Given the description of an element on the screen output the (x, y) to click on. 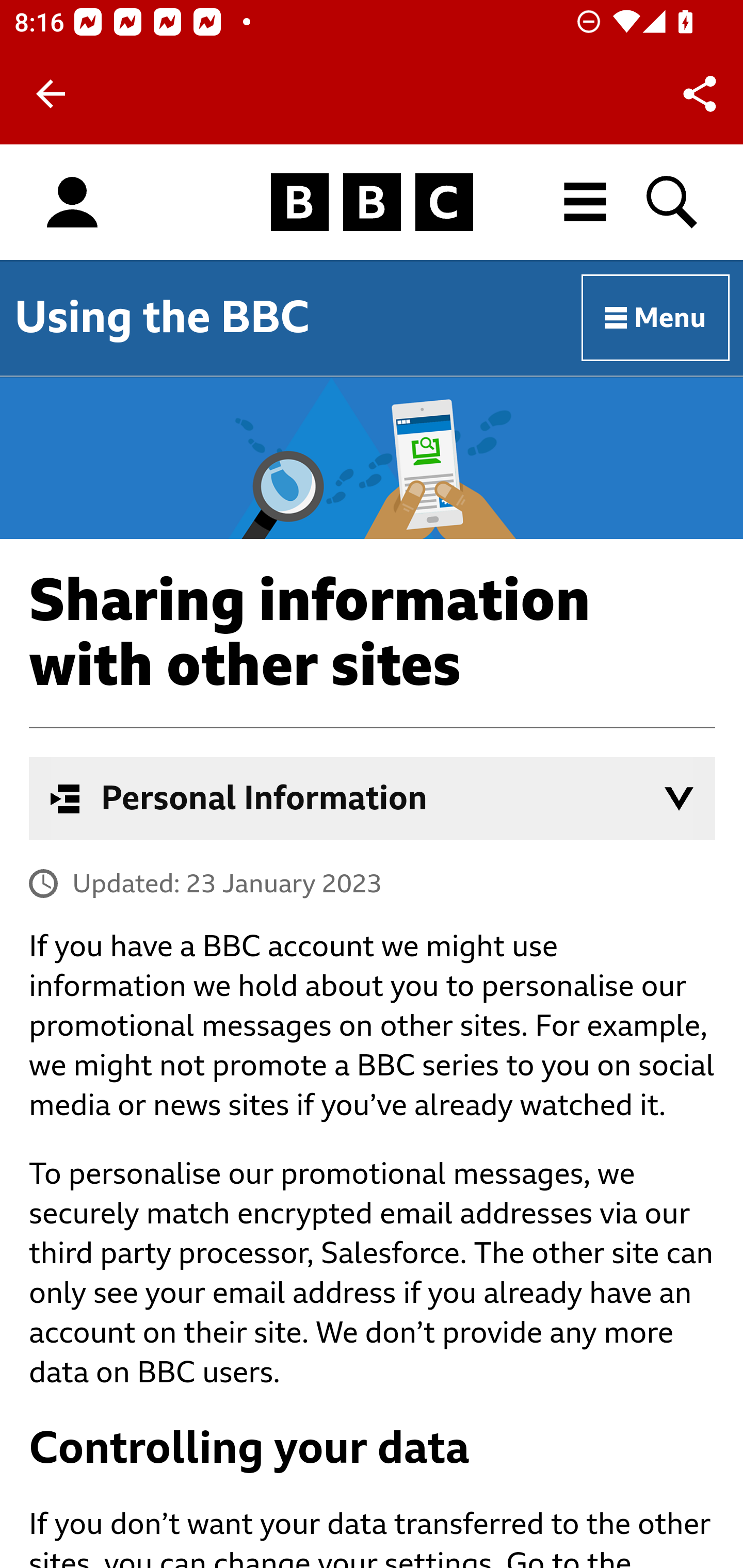
Back (50, 93)
Share (699, 93)
All BBC destinations menu (585, 202)
Search BBC (672, 202)
Sign in (71, 203)
Homepage (371, 203)
Menu (656, 318)
Using the BBC (162, 317)
Personal Information (372, 798)
